Given the description of an element on the screen output the (x, y) to click on. 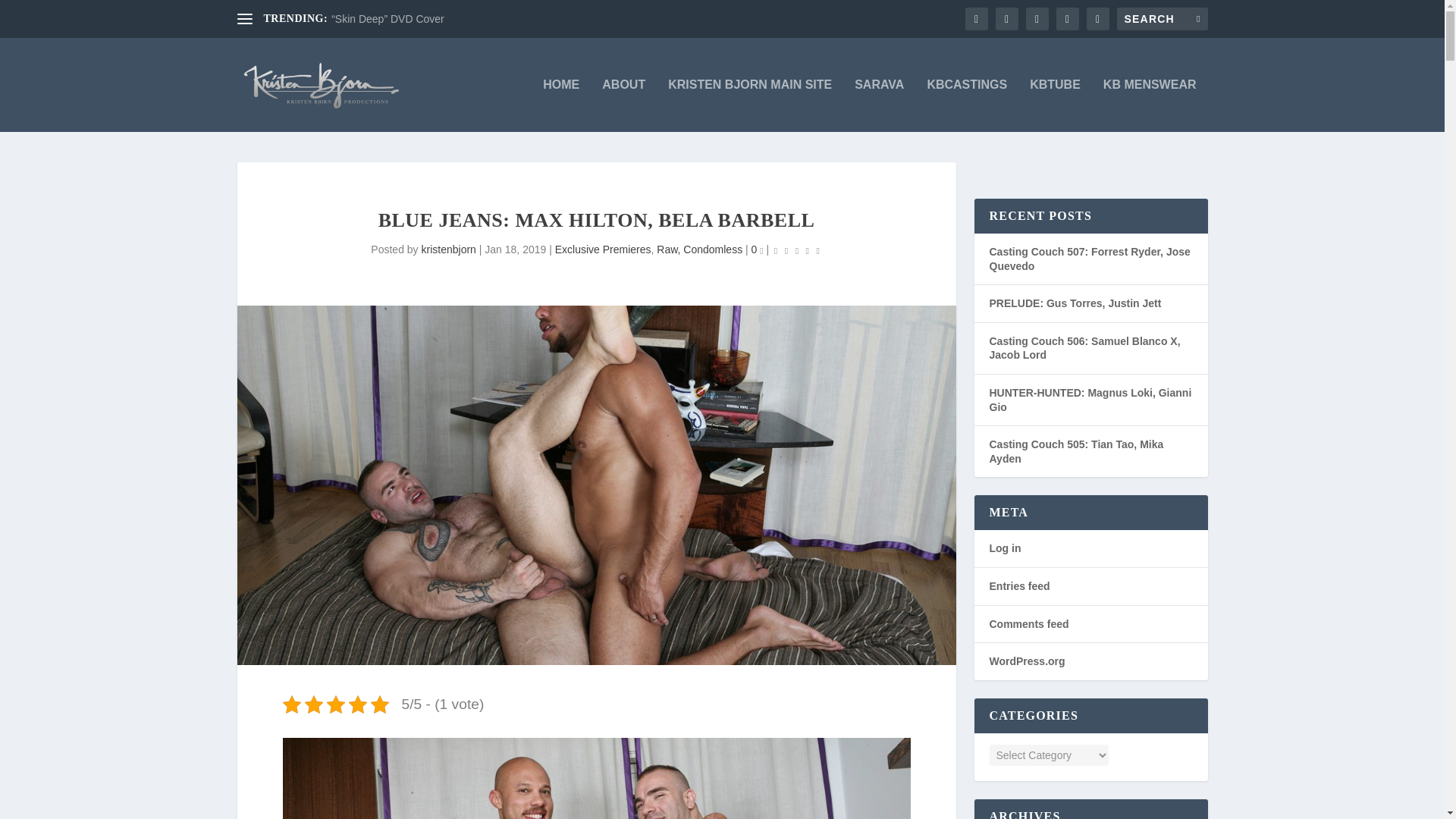
Exclusive Premieres (602, 249)
Sarava Productions (879, 104)
Kristen Bjorn Main Site (749, 104)
Kristen Bjorn Tube (1054, 104)
KBTUBE (1054, 104)
0 (756, 249)
Search for: (1161, 18)
KRISTEN BJORN MAIN SITE (749, 104)
KBCASTINGS (966, 104)
Raw, Condomless (699, 249)
KB Castings (966, 104)
KB Menswear (1149, 104)
SARAVA (879, 104)
kristenbjorn (449, 249)
KB MENSWEAR (1149, 104)
